Given the description of an element on the screen output the (x, y) to click on. 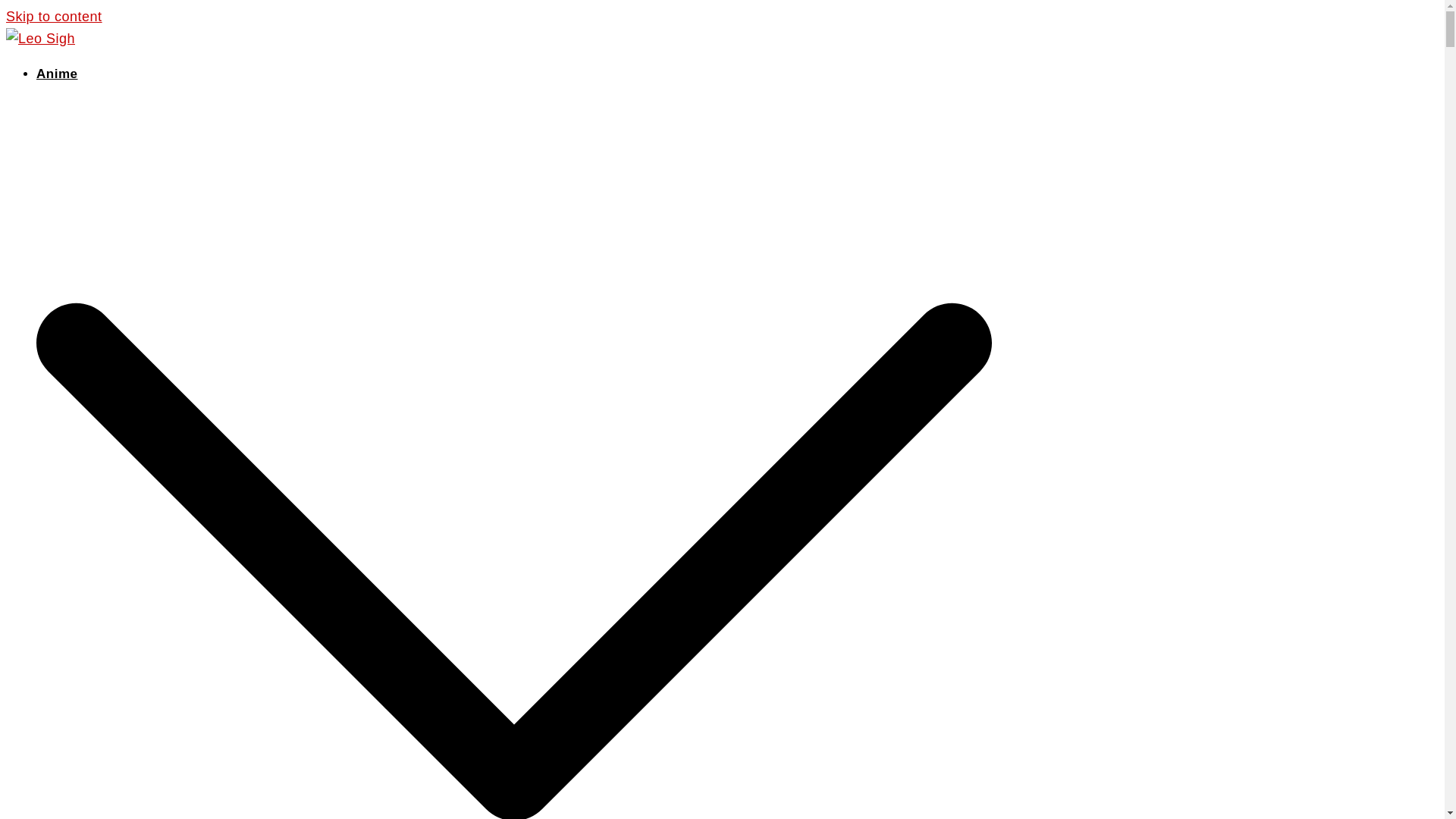
Leo Sigh (40, 38)
Anime (56, 73)
Skip to content (53, 16)
